Given the description of an element on the screen output the (x, y) to click on. 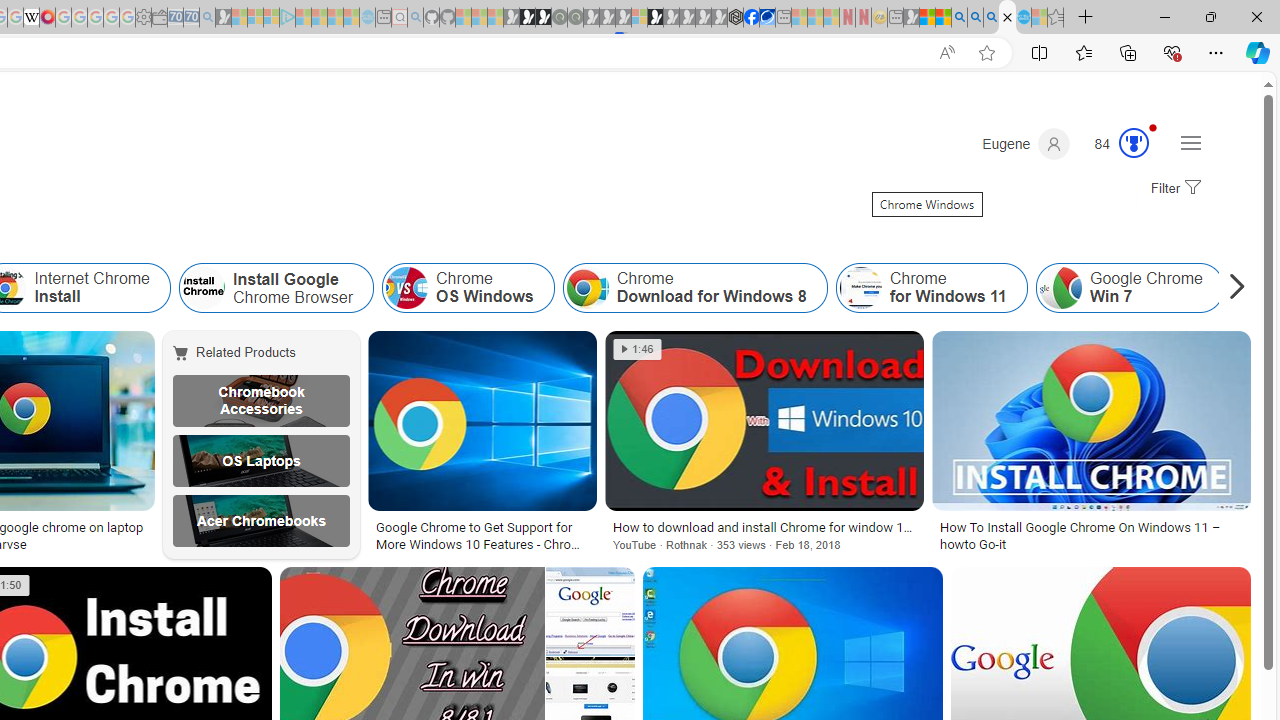
Scroll right (1231, 287)
